Given the description of an element on the screen output the (x, y) to click on. 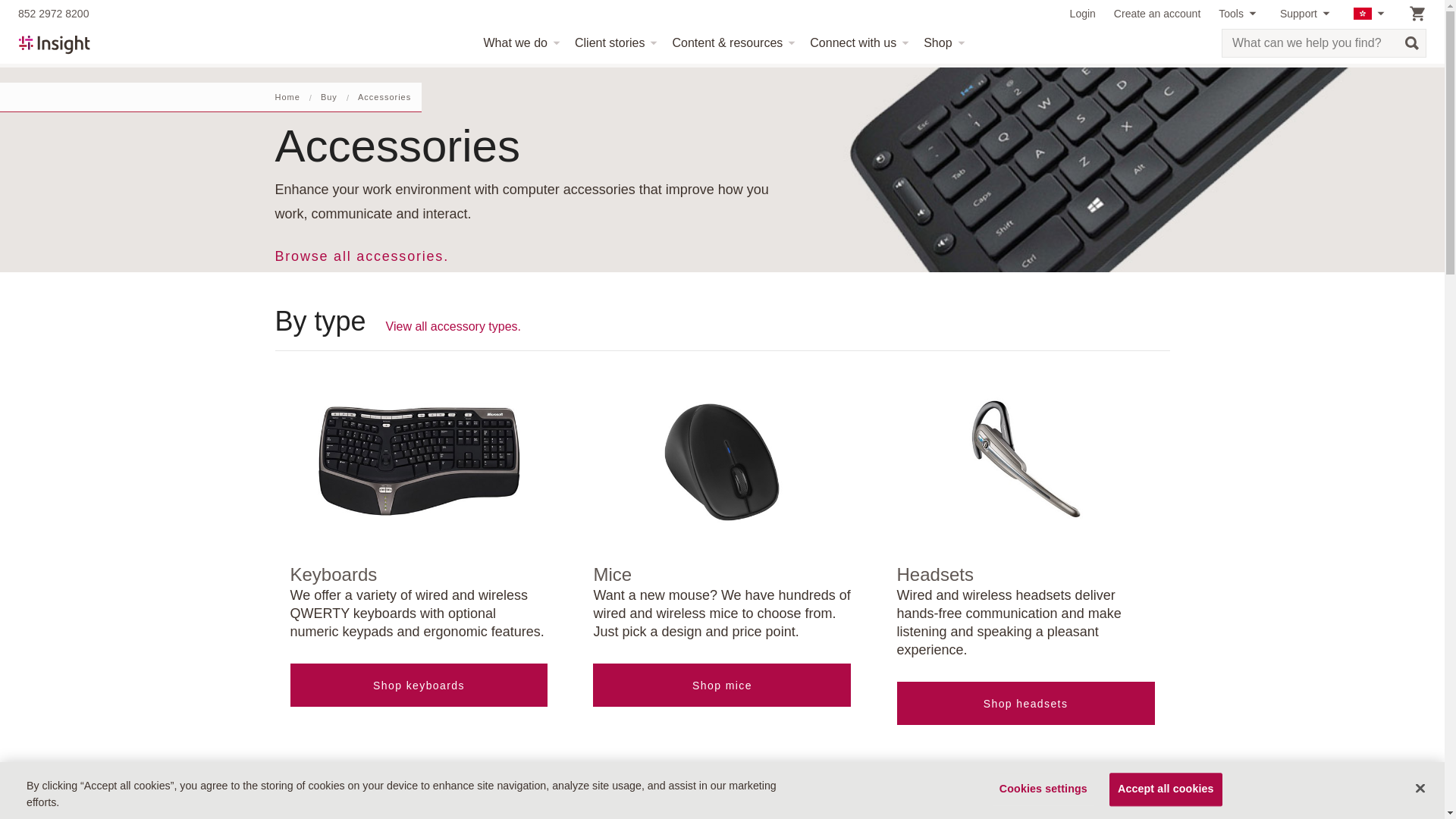
Shopping cart (1416, 13)
Support (1307, 13)
Tools (1240, 13)
Login (1083, 13)
Client stories (614, 42)
What we do (519, 42)
Shop (941, 42)
Keyboards (418, 459)
Pointing devices (721, 459)
Connect with us (857, 42)
Create an account (1156, 13)
852 2972 8200 (52, 13)
Headsets (1025, 459)
